Given the description of an element on the screen output the (x, y) to click on. 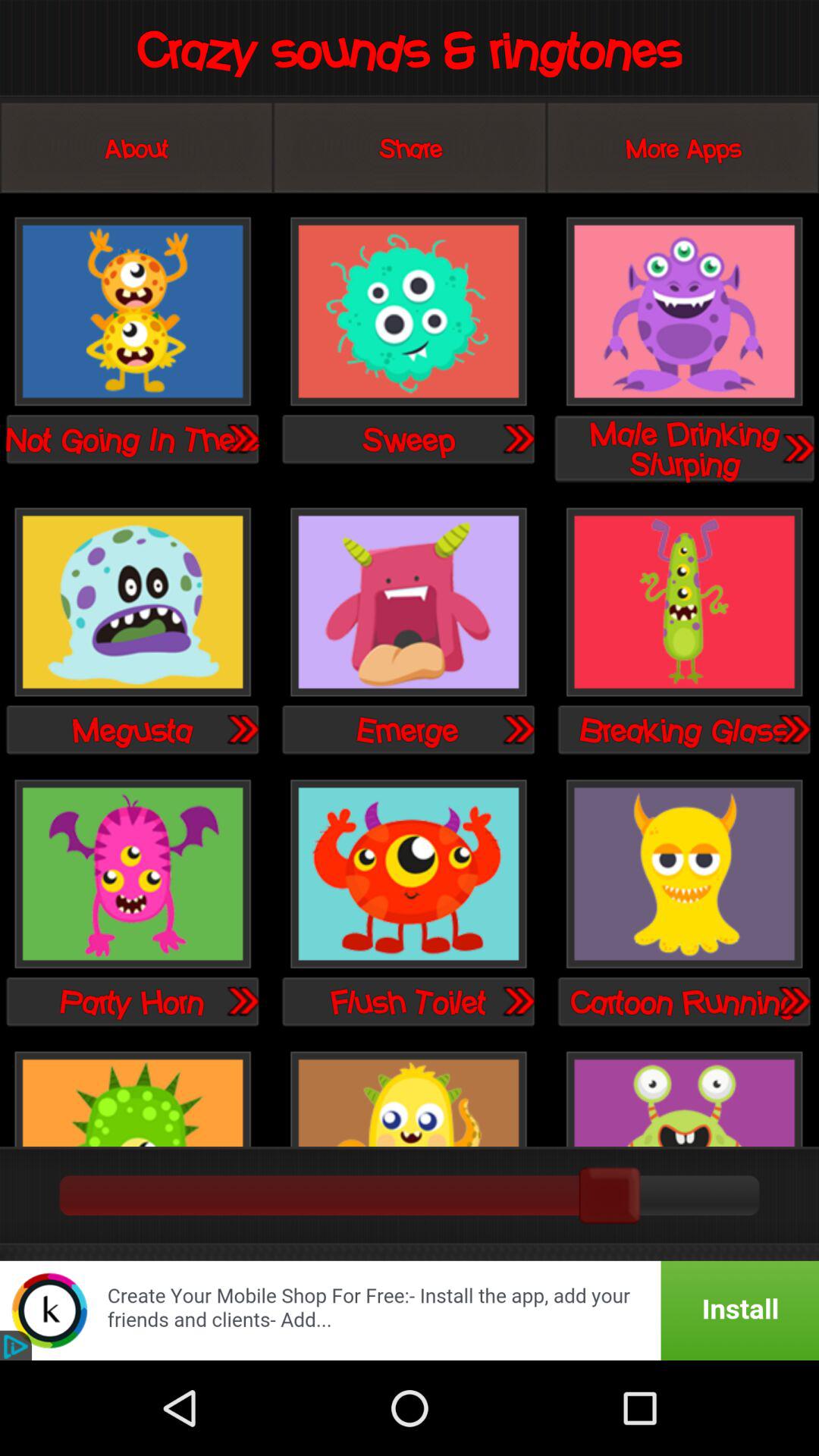
this option is to trigger a different sound (132, 312)
